Given the description of an element on the screen output the (x, y) to click on. 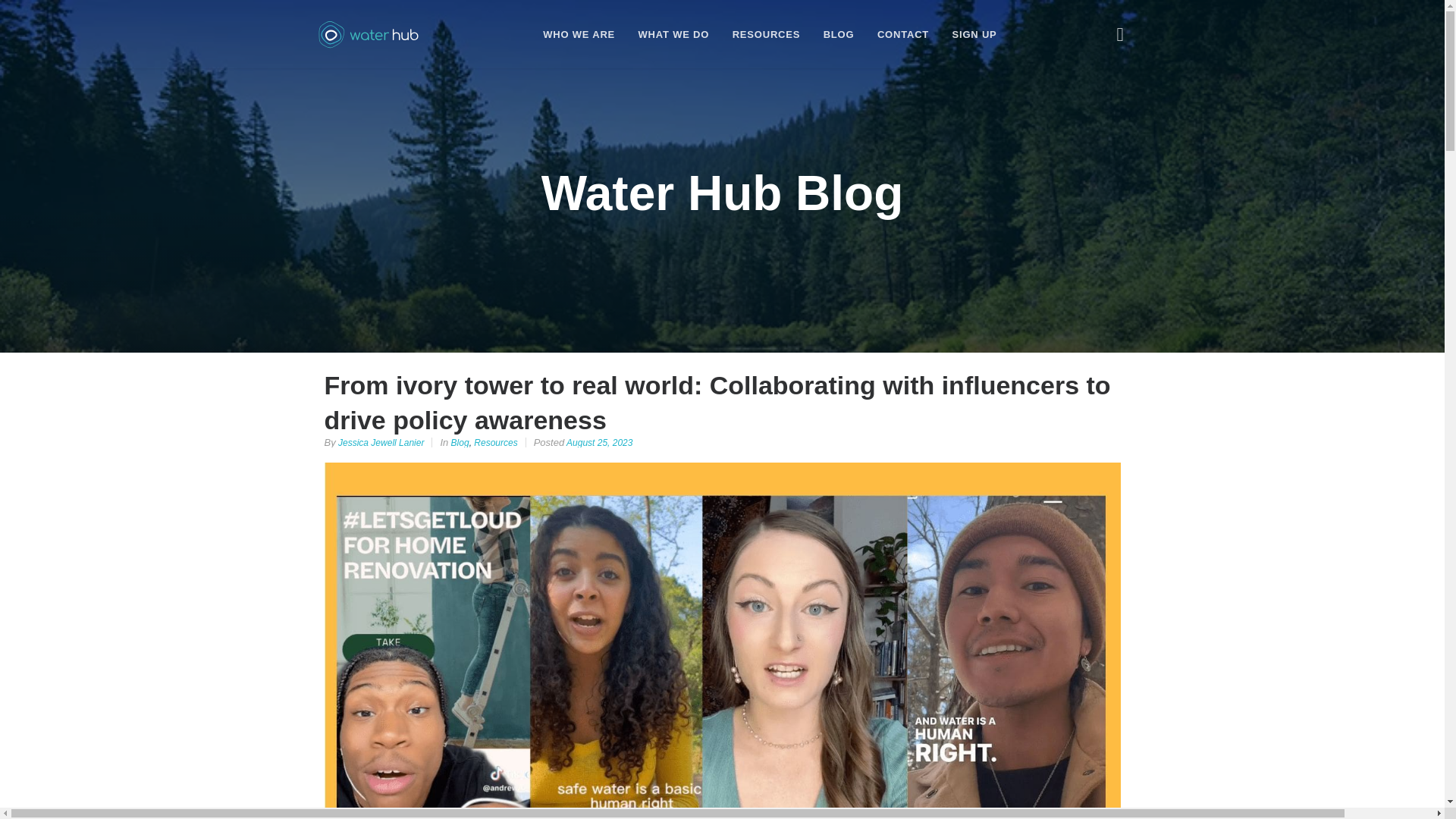
SIGN UP (974, 34)
BLOG (839, 34)
Blog (459, 442)
Resources (495, 442)
WHO WE ARE (578, 34)
WHAT WE DO (674, 34)
August 25, 2023 (598, 442)
RESOURCES (766, 34)
Jessica Jewell Lanier (380, 442)
CONTACT (902, 34)
